Given the description of an element on the screen output the (x, y) to click on. 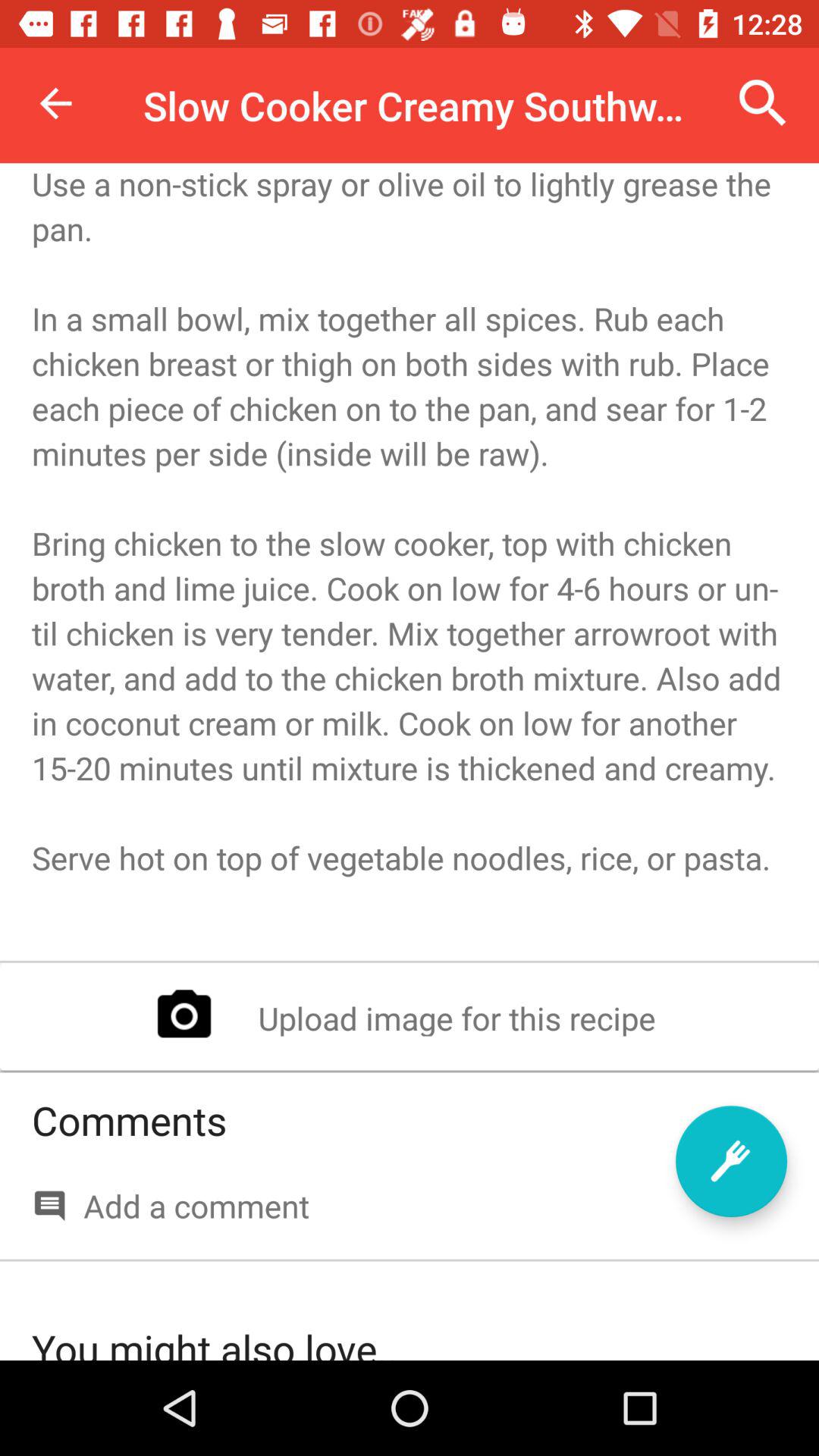
tap the item next to the slow cooker creamy (763, 103)
